Given the description of an element on the screen output the (x, y) to click on. 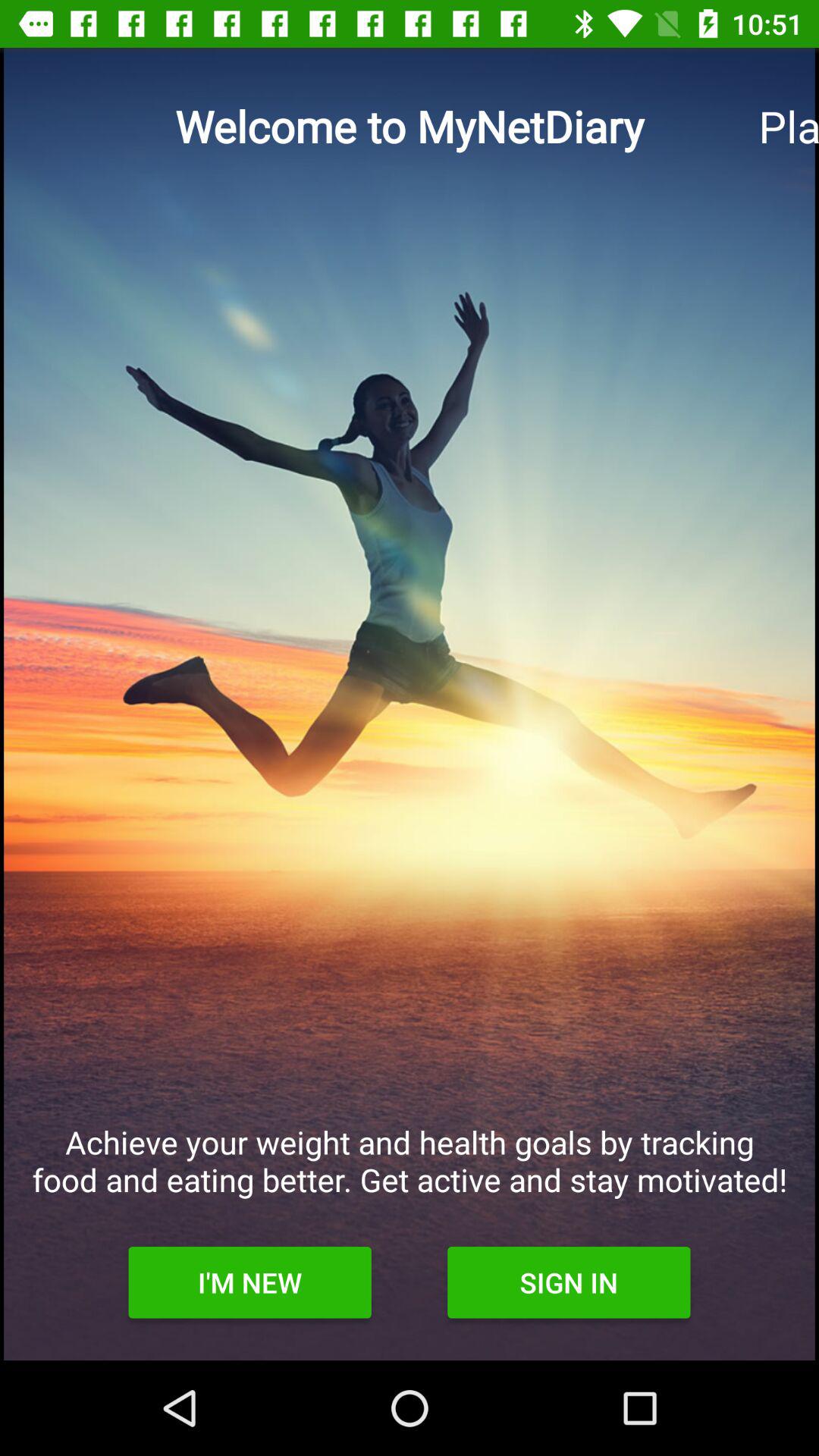
launch the item to the left of the sign in (249, 1282)
